Given the description of an element on the screen output the (x, y) to click on. 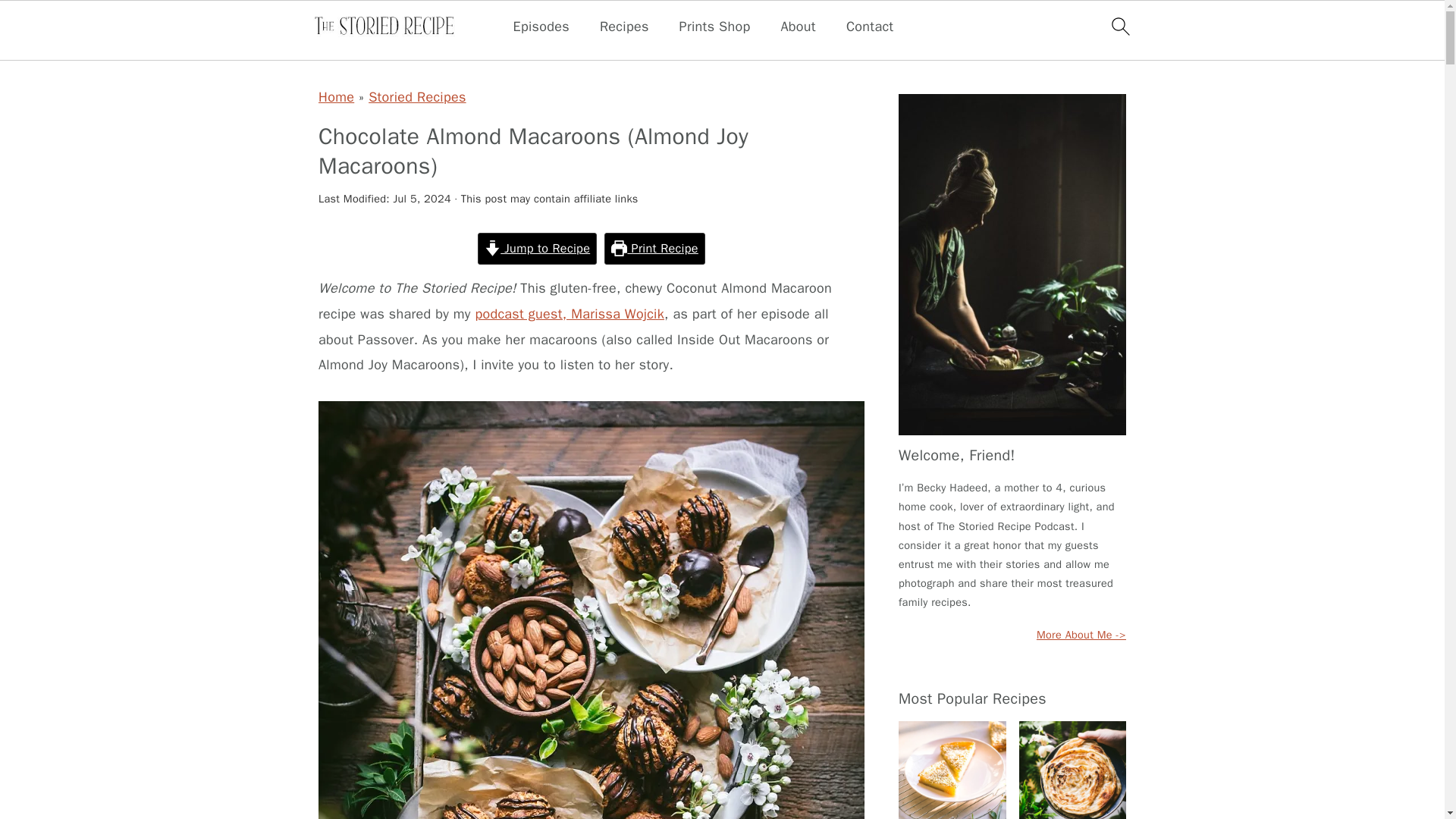
Jump to Recipe (536, 248)
Recipes (624, 27)
search icon (1119, 26)
Print Recipe (654, 248)
Prints Shop (715, 27)
Episodes (541, 27)
Contact (869, 27)
podcast guest, Marissa Wojcik (568, 313)
Storied Recipes (416, 96)
Home (335, 96)
About (797, 27)
